Given the description of an element on the screen output the (x, y) to click on. 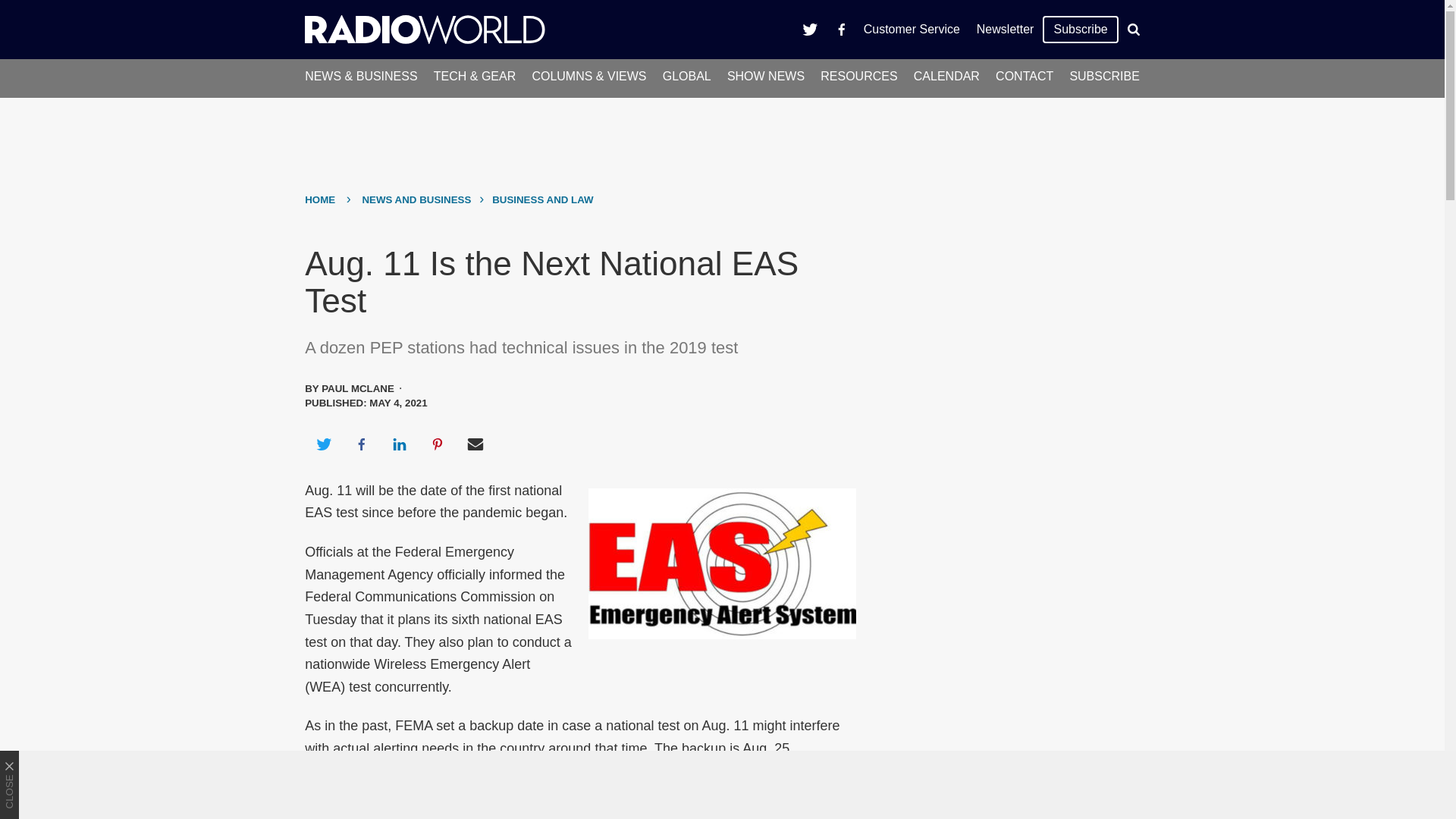
Customer Service (912, 29)
Share on Twitter (323, 444)
Share on Pinterest (438, 444)
Share on LinkedIn (399, 444)
Share via Email (476, 444)
Share on Facebook (361, 444)
